Given the description of an element on the screen output the (x, y) to click on. 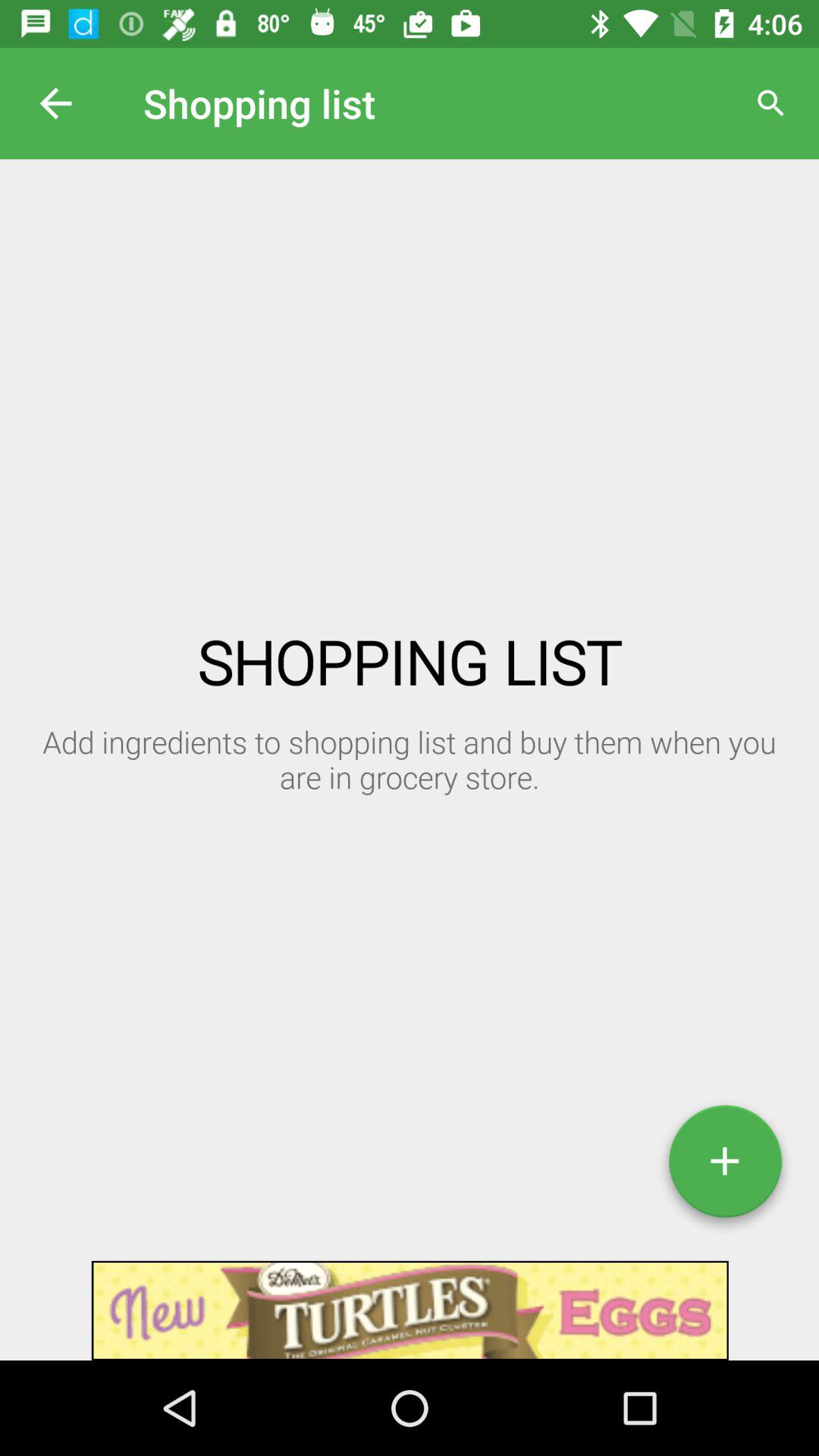
click on the  add ingredients to shopping list and buy them when you are in grocery store (210, 741)
click on search bar icon (771, 103)
click on add icon at the bottom right corner (725, 1167)
